Given the description of an element on the screen output the (x, y) to click on. 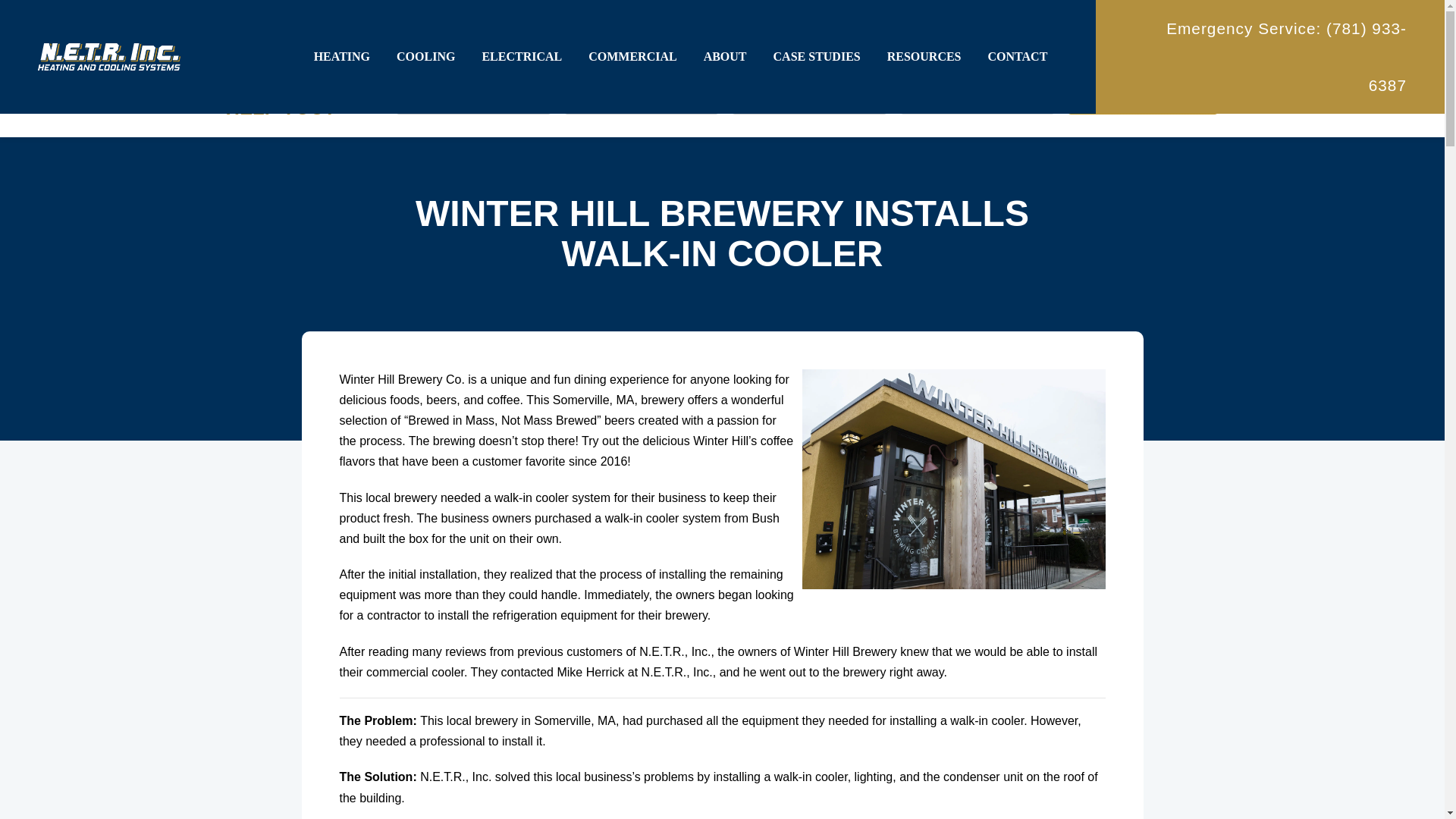
Contact Us (1142, 97)
CASE STUDIES (816, 56)
ELECTRICAL (521, 56)
COMMERCIAL (632, 56)
COOLING (425, 56)
HEATING (341, 56)
ABOUT (724, 56)
